Given the description of an element on the screen output the (x, y) to click on. 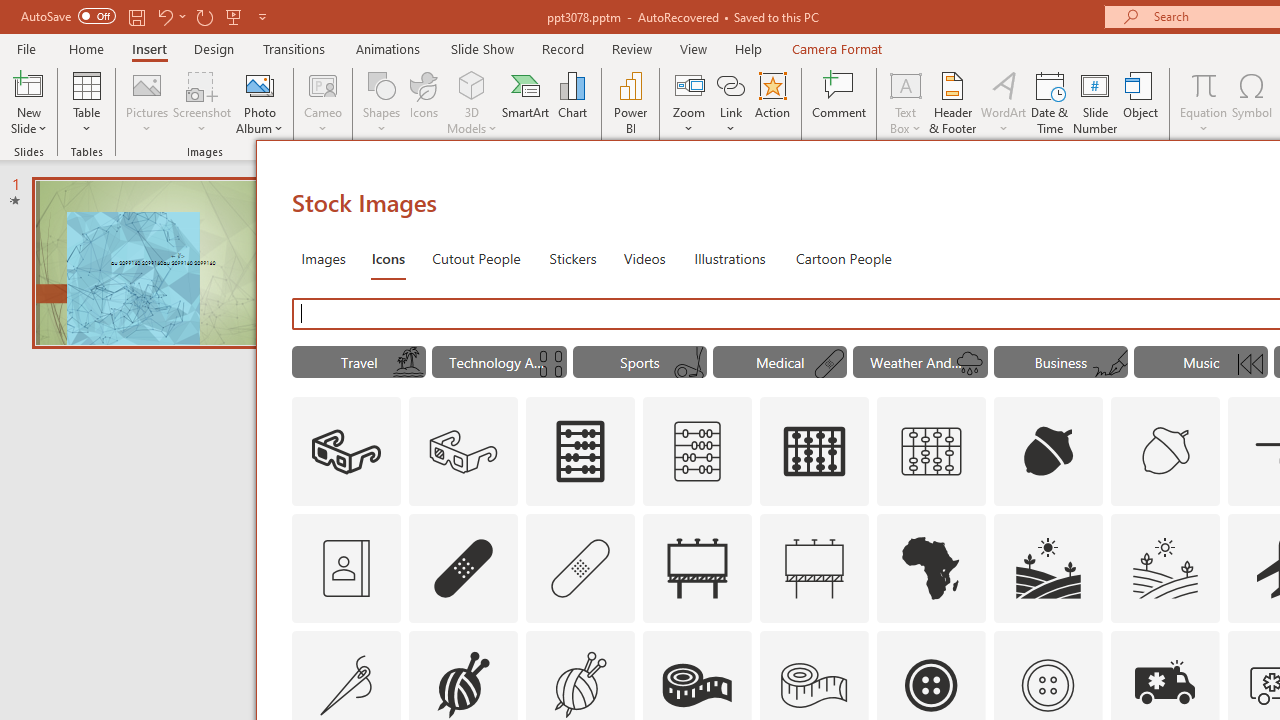
"Technology And Electronics" Icons. (499, 362)
Action (772, 102)
Camera Format (836, 48)
AutomationID: Icons_AdhesiveBandage_M (580, 568)
Photo Album... (259, 102)
Header & Footer... (952, 102)
